Given the description of an element on the screen output the (x, y) to click on. 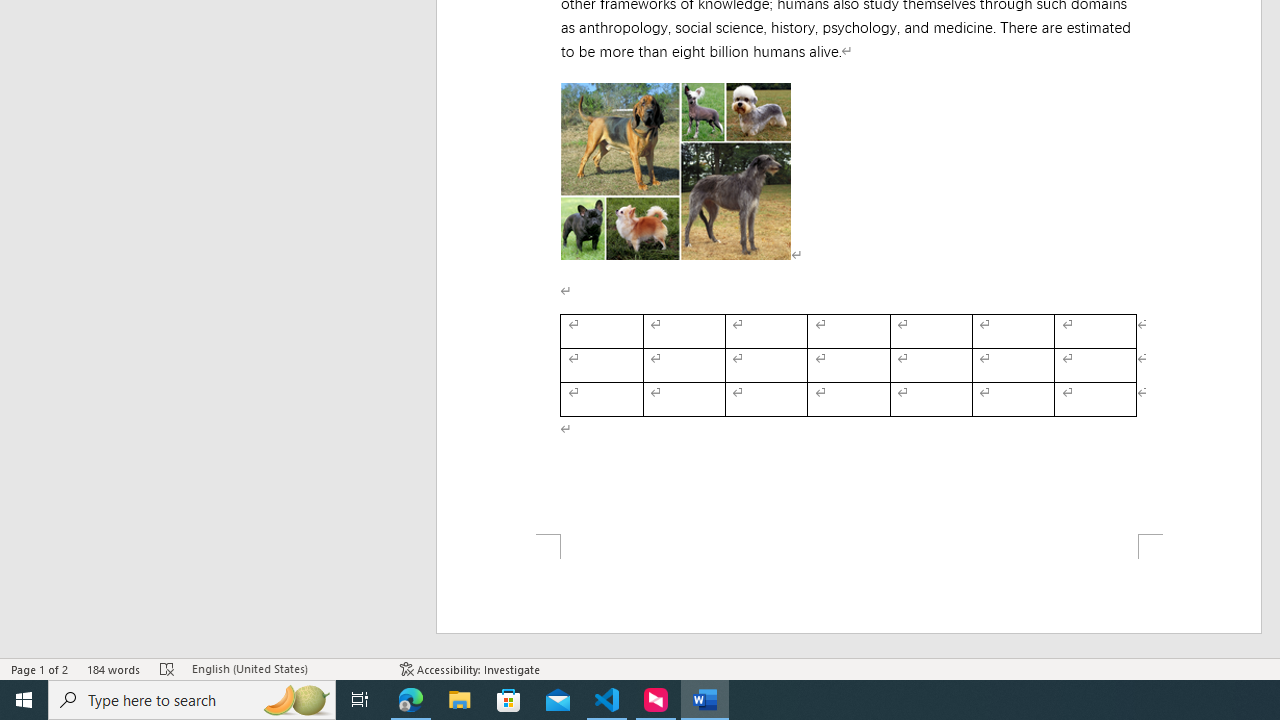
Morphological variation in six dogs (675, 170)
Page Number Page 1 of 2 (39, 668)
Spelling and Grammar Check Errors (168, 668)
Word Count 184 words (113, 668)
